Given the description of an element on the screen output the (x, y) to click on. 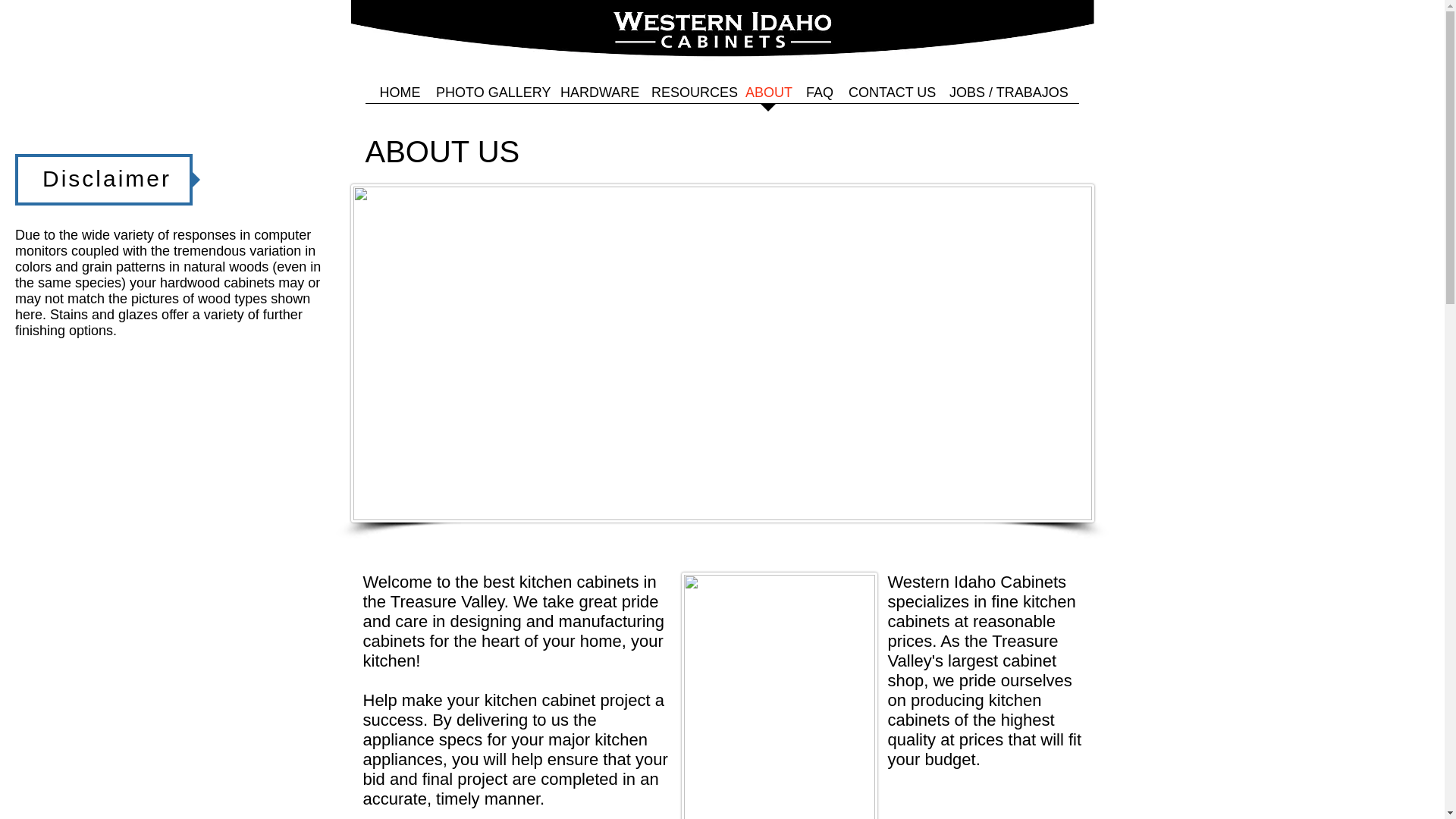
PHOTO GALLERY (490, 97)
We specialize in fine kitchen cabinets (721, 49)
HOME (399, 97)
ABOUT (767, 97)
FAQ (819, 97)
CONTACT US (891, 97)
HARDWARE (598, 97)
RESOURCES (690, 97)
